Given the description of an element on the screen output the (x, y) to click on. 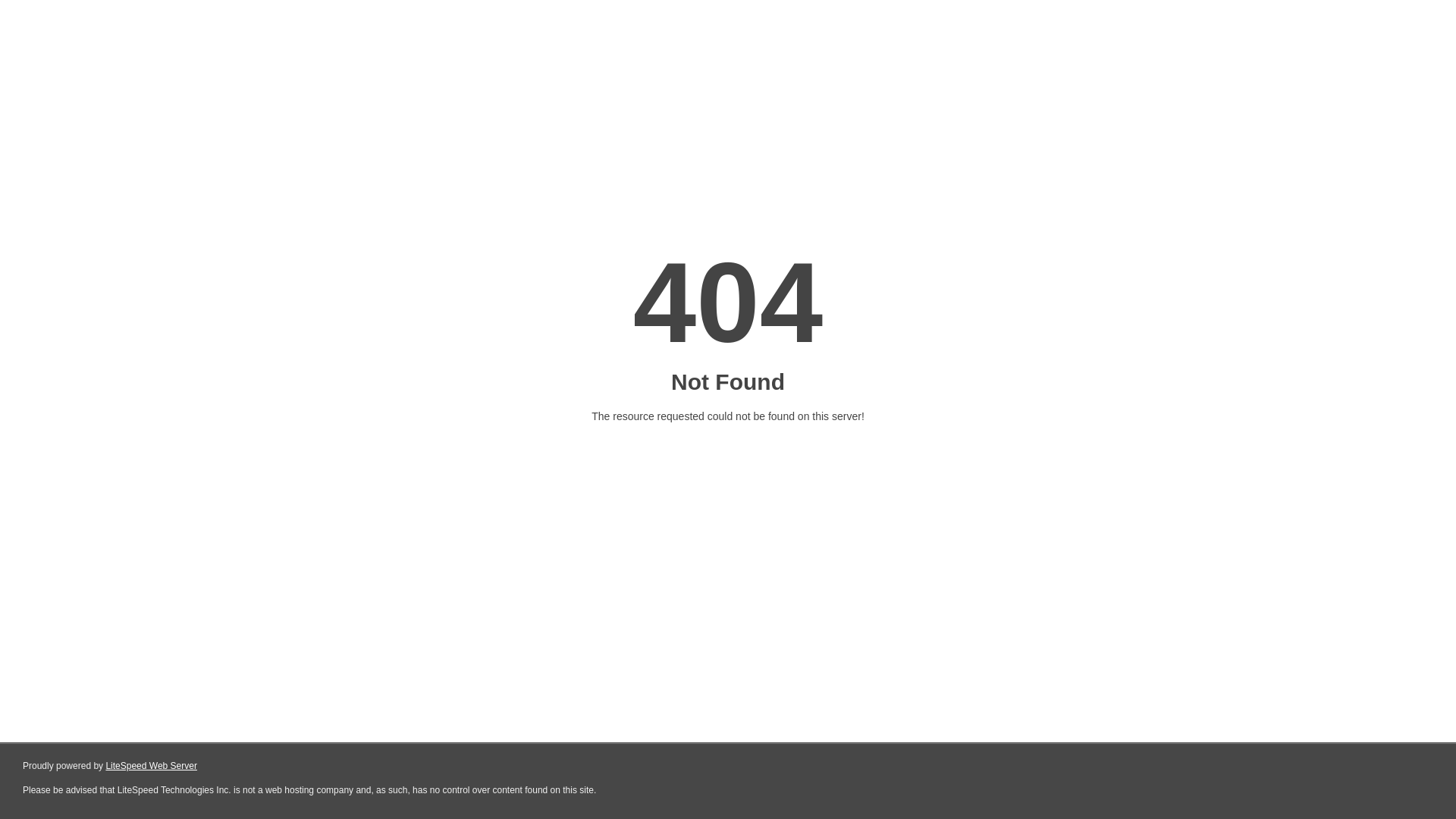
LiteSpeed Web Server Element type: text (151, 765)
